Given the description of an element on the screen output the (x, y) to click on. 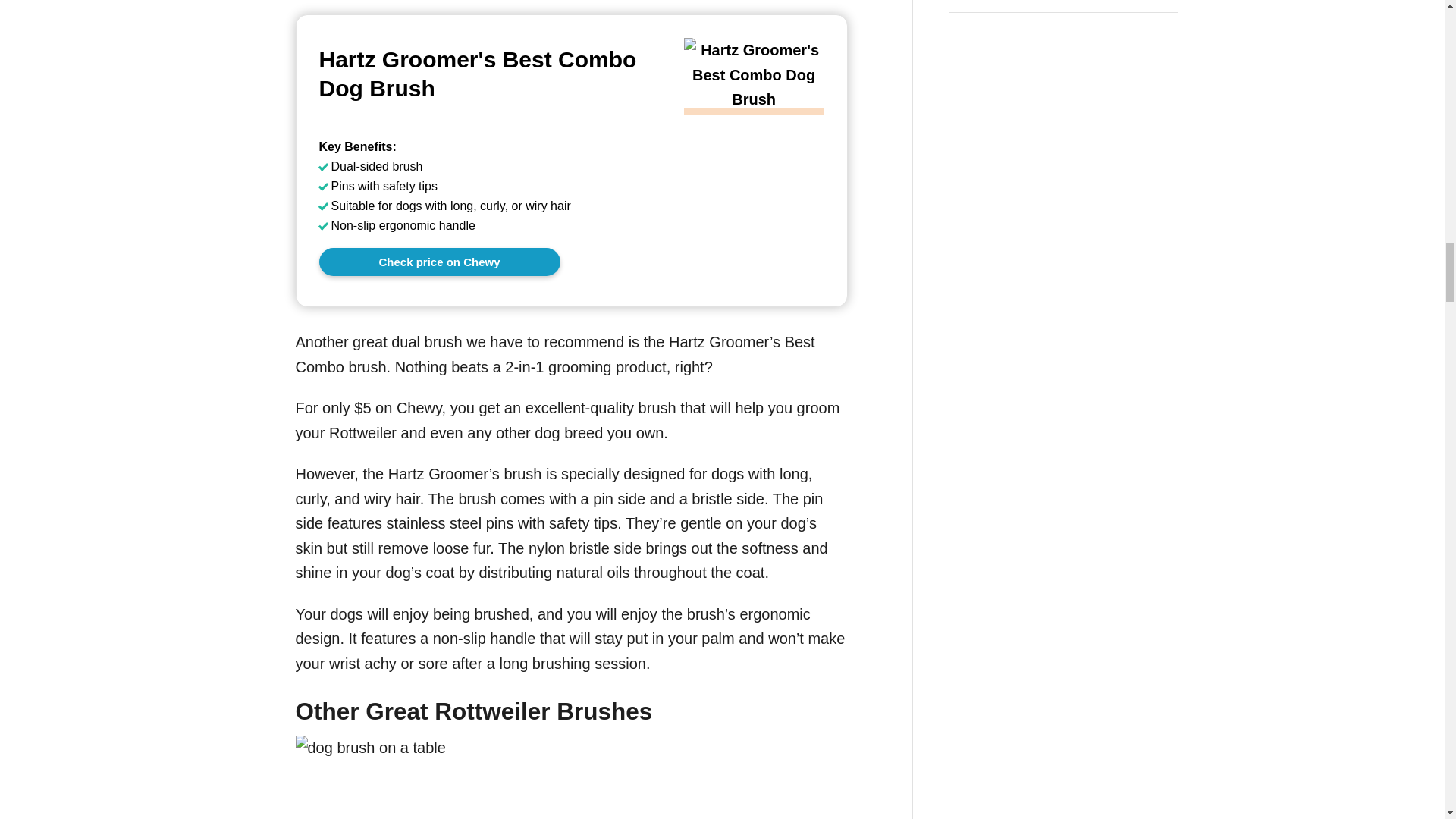
Hartz Groomer's Best Combo Dog Brush (489, 73)
Hartz Groomer's Best Combo Dog Brush (754, 102)
Hartz Groomer's Best Combo Dog Brush (438, 262)
